Given the description of an element on the screen output the (x, y) to click on. 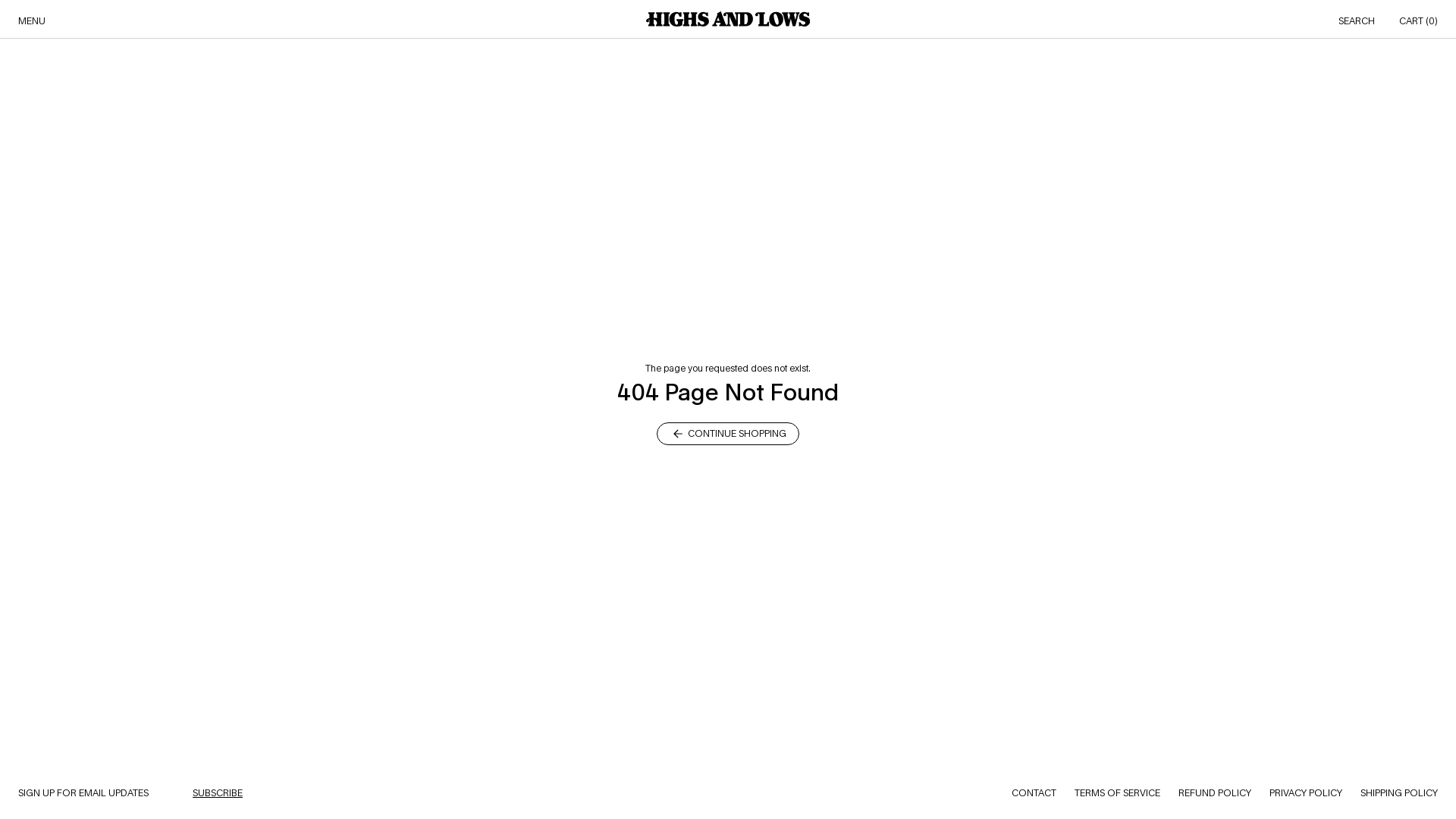
CONTACT Element type: text (1033, 792)
PRIVACY POLICY Element type: text (1305, 792)
TERMS OF SERVICE Element type: text (1117, 792)
SUBSCRIBE Element type: text (217, 792)
SHIPPING POLICY Element type: text (1398, 792)
MENU Element type: text (31, 20)
CONTINUE SHOPPING Element type: text (728, 432)
SEARCH Element type: text (1356, 20)
CART (0) Element type: text (1418, 20)
REFUND POLICY Element type: text (1214, 792)
